Given the description of an element on the screen output the (x, y) to click on. 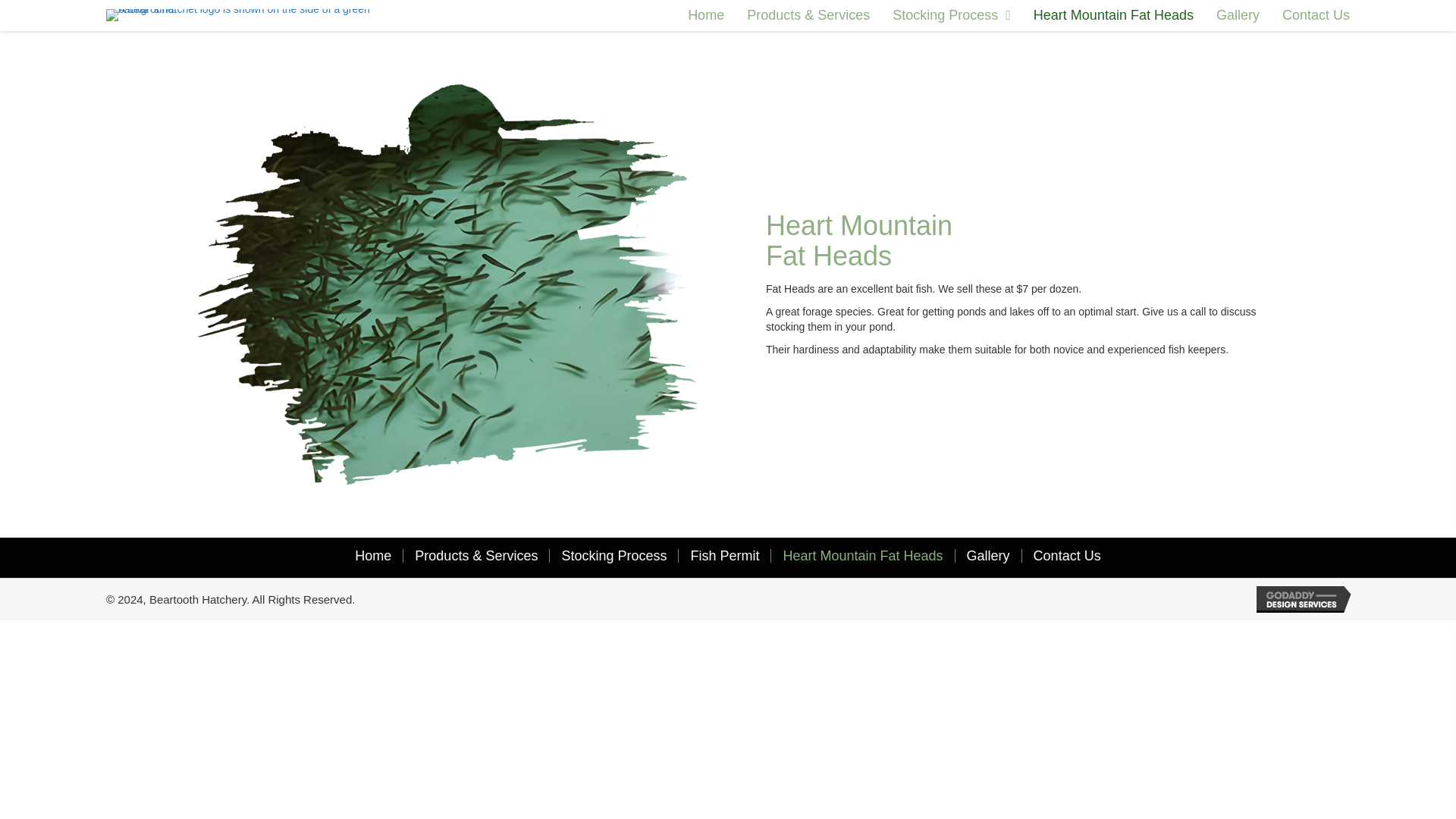
Heart Mountain Fat Heads (1113, 15)
Contact Us (1067, 555)
Stocking Process (951, 15)
Home (373, 555)
Home (705, 15)
Gallery (1237, 15)
Heart Mountain Fat Heads (862, 555)
Gallery (988, 555)
Contact Us (1315, 15)
